Given the description of an element on the screen output the (x, y) to click on. 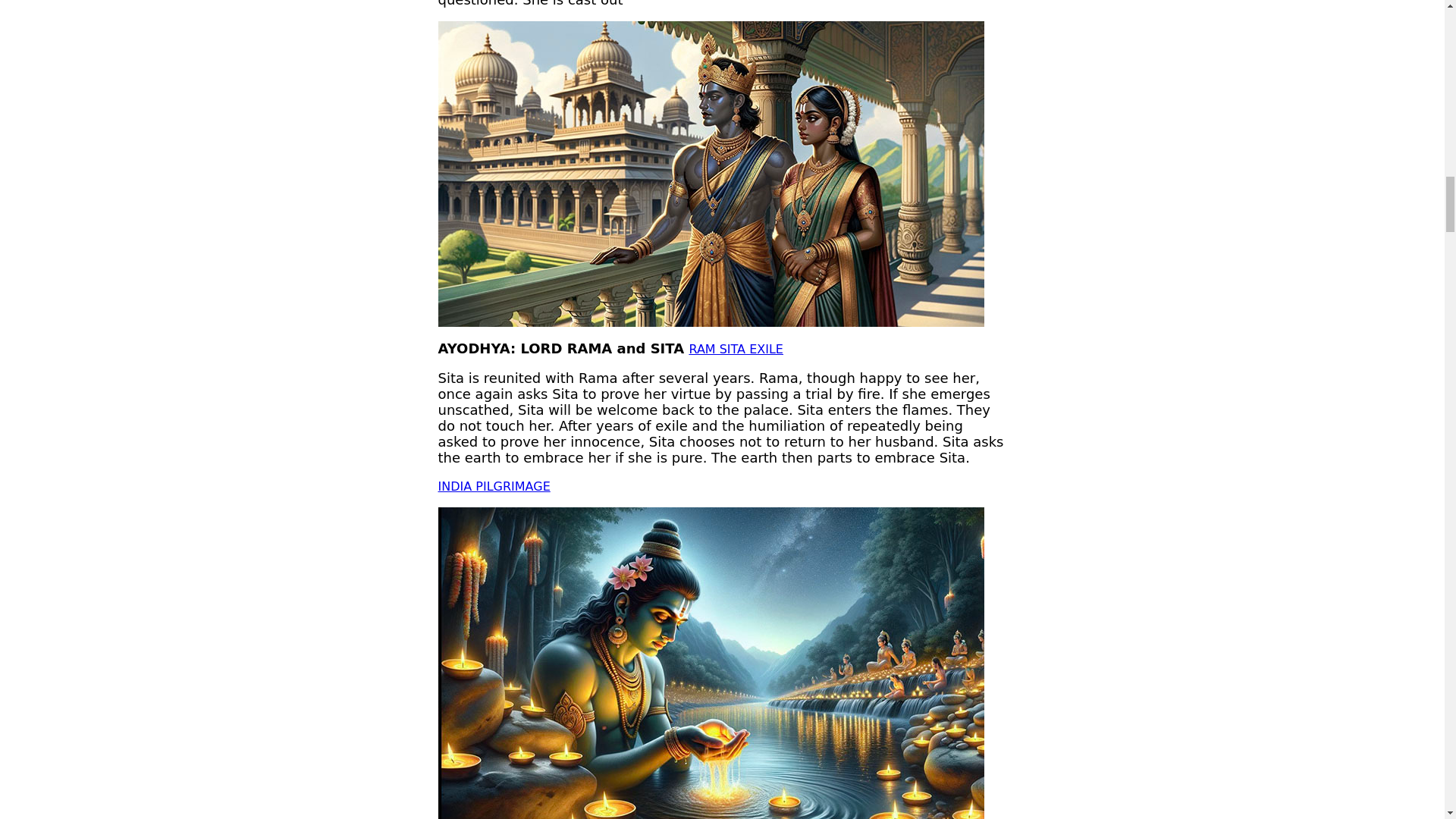
RAM SITA EXILE (735, 349)
INDIA PILGRIMAGE (494, 486)
